Given the description of an element on the screen output the (x, y) to click on. 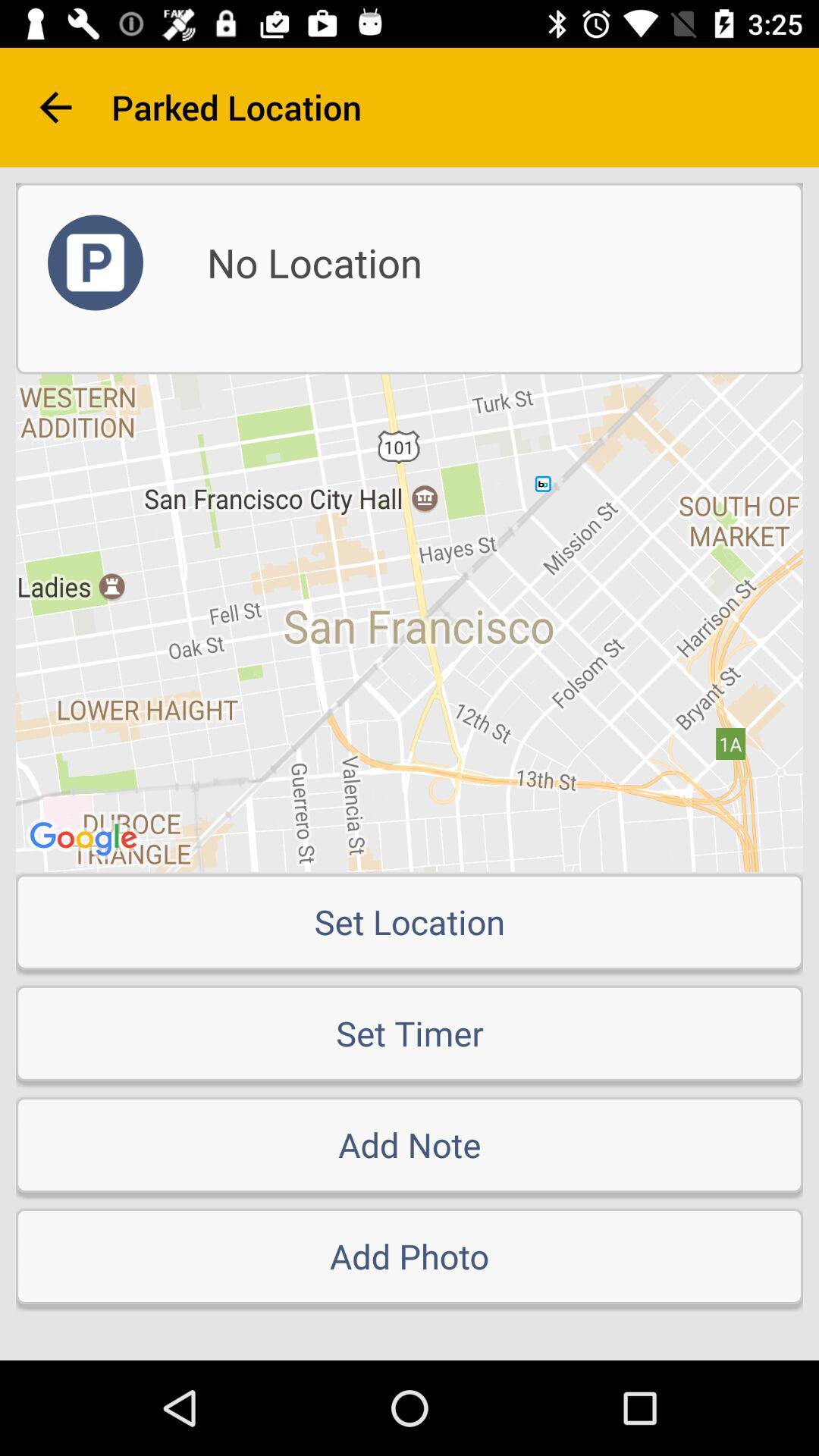
launch item below add note icon (409, 1256)
